Given the description of an element on the screen output the (x, y) to click on. 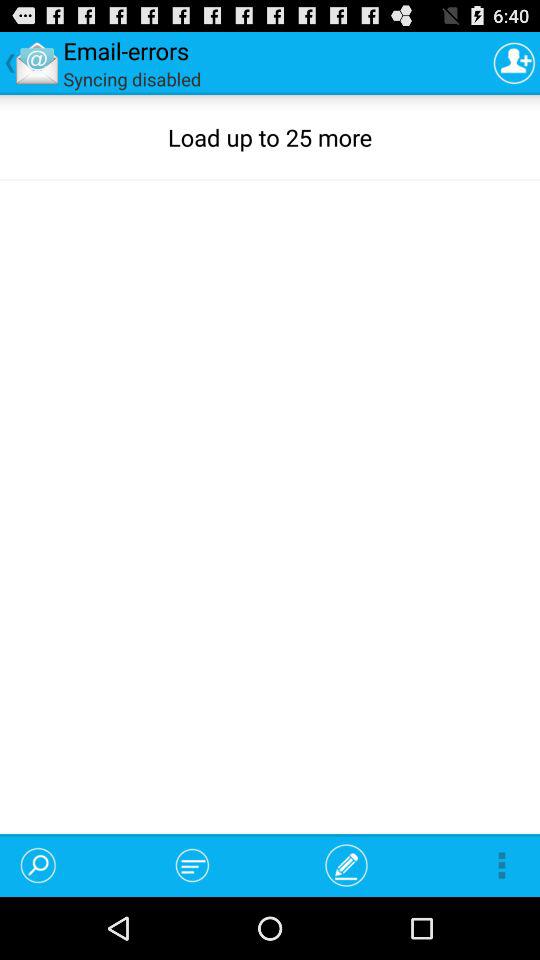
choose icon at the bottom right corner (501, 864)
